Given the description of an element on the screen output the (x, y) to click on. 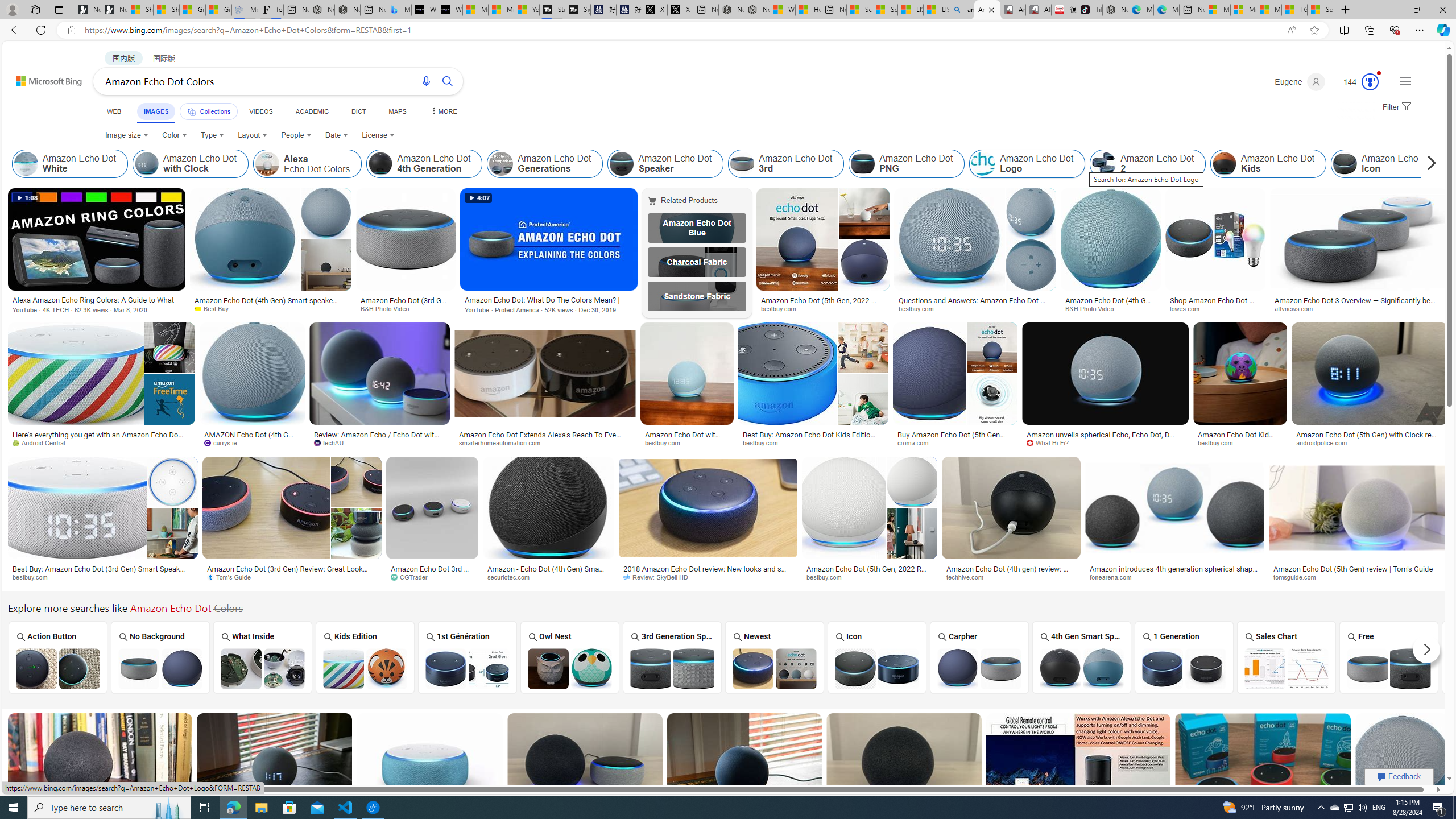
Huge shark washes ashore at New York City beach | Watch (807, 9)
Icon (877, 656)
fonearena.com (1174, 576)
Amazon Echo Dot 3rd (786, 163)
Amazon Echo Dot 1 Generation (1184, 668)
Owl Nest (569, 656)
Type (212, 135)
